Given the description of an element on the screen output the (x, y) to click on. 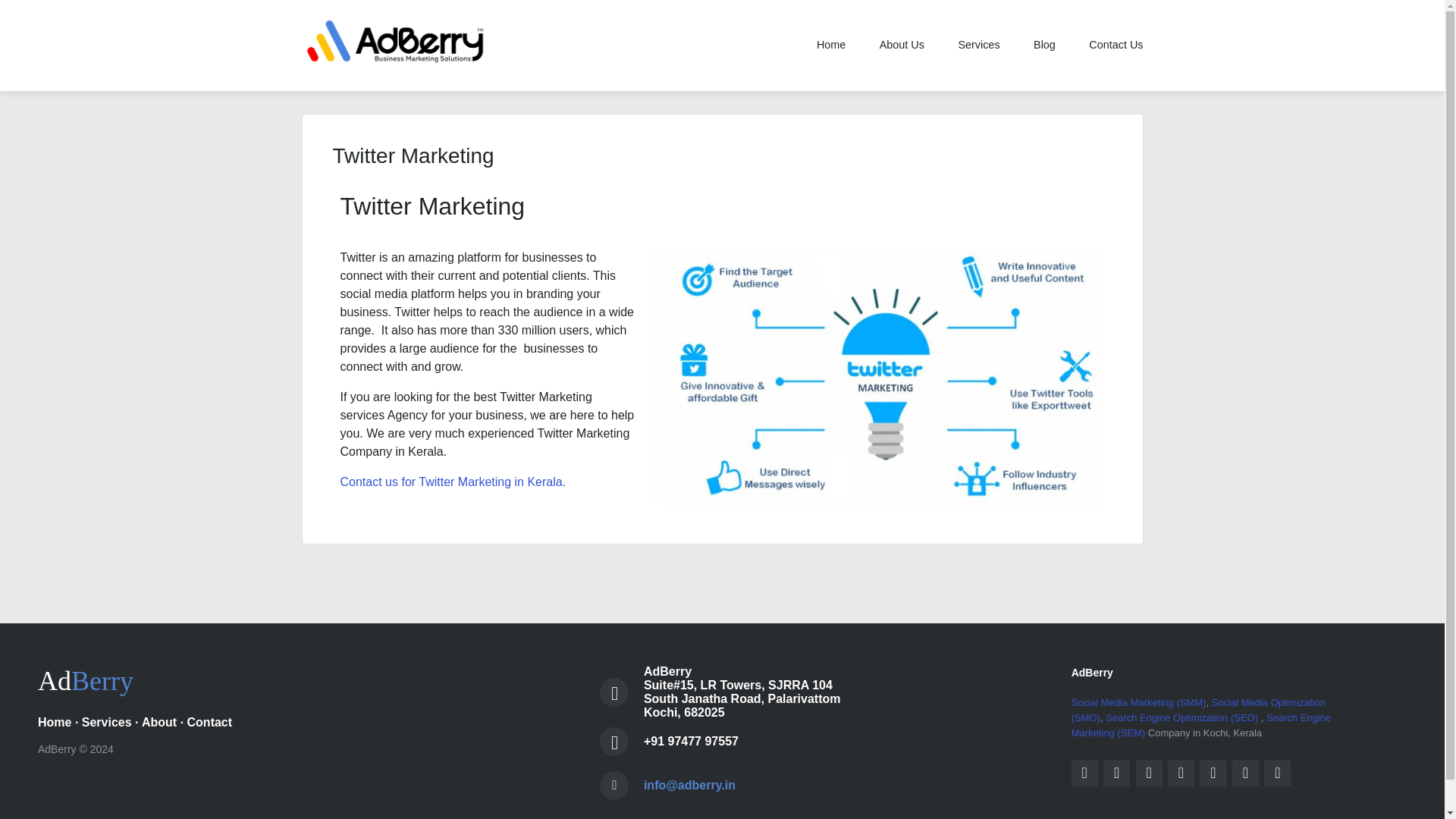
Home (54, 722)
Home (832, 45)
Contact (209, 722)
About Us (901, 45)
Contact Us (1108, 45)
Contact us for Twitter Marketing in Kerala. (452, 481)
About (158, 722)
Blog (1043, 45)
Services (978, 45)
Services (106, 722)
